Given the description of an element on the screen output the (x, y) to click on. 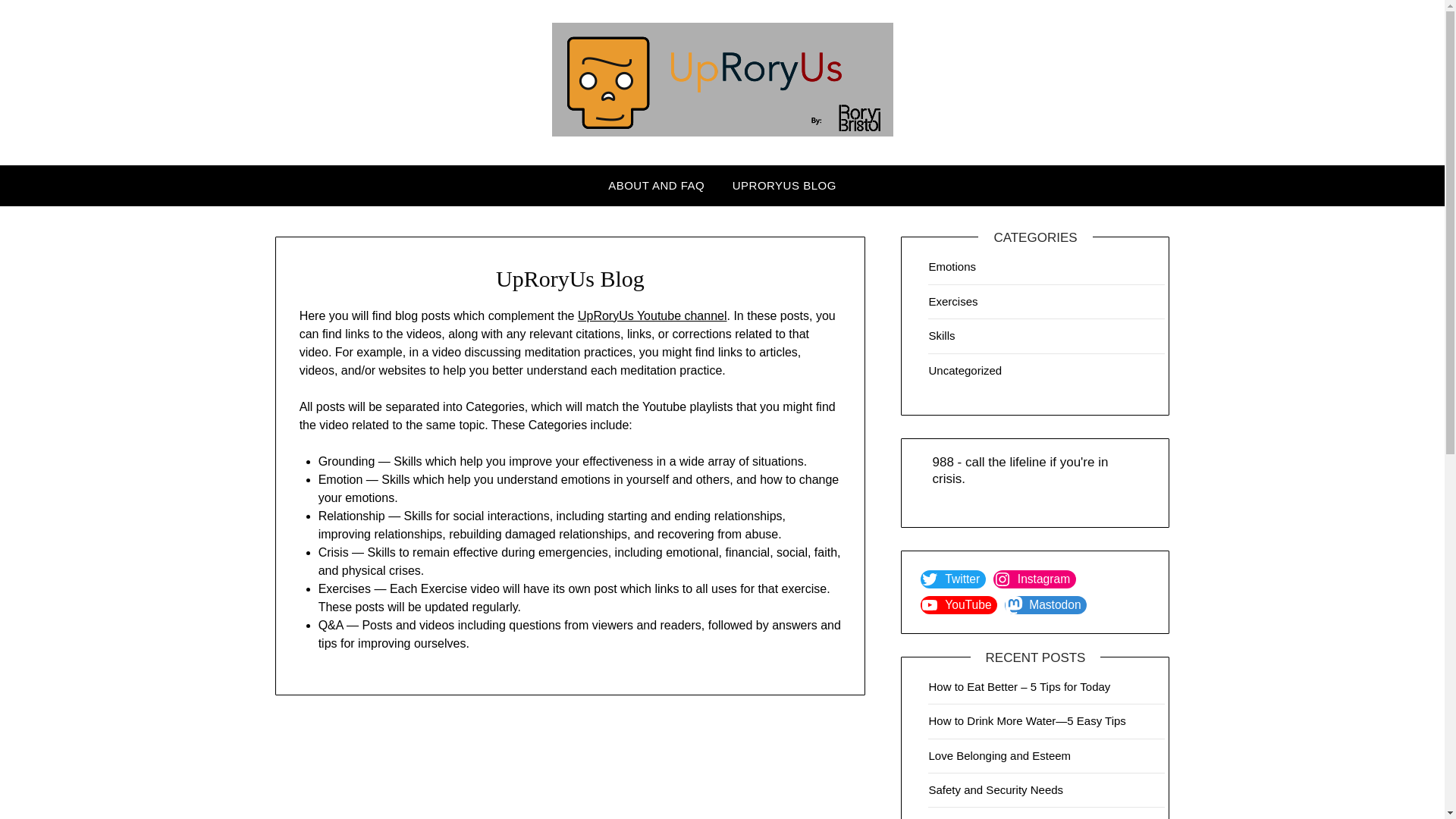
Safety and Security Needs (995, 789)
Emotions (951, 266)
Skills (941, 335)
UPRORYUS BLOG (784, 185)
UpRoryUs Youtube channel (652, 315)
YouTube (958, 605)
Instagram (1033, 579)
Exercises (952, 300)
Twitter (952, 579)
Mastodon (1045, 605)
